Given the description of an element on the screen output the (x, y) to click on. 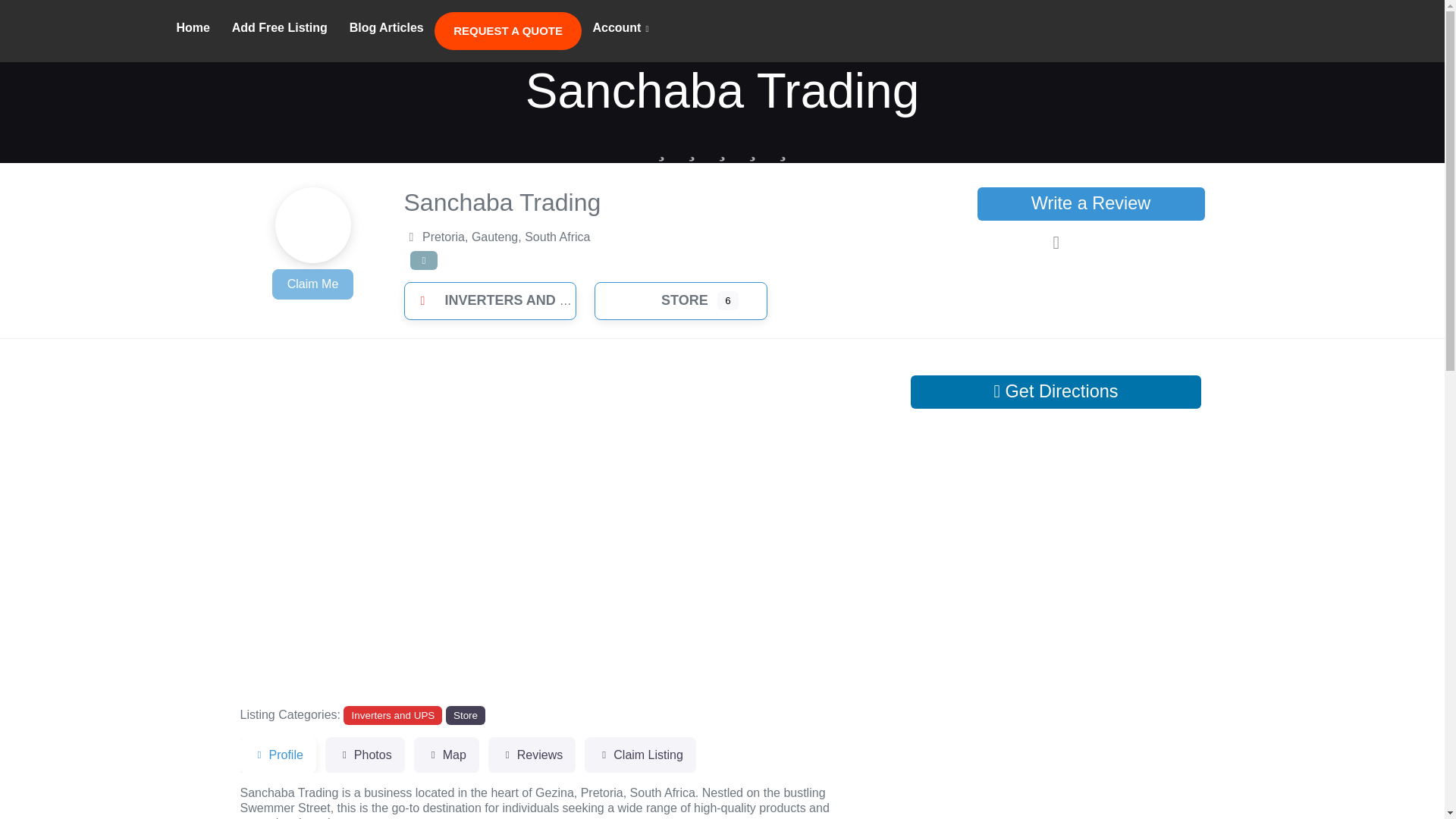
STORE (665, 299)
Claim Listing (640, 755)
Get Directions (1055, 391)
INVERTERS AND UPS (497, 299)
Home (193, 28)
Store (464, 714)
Reviews (531, 755)
No rating yet! (721, 147)
Inverters and UPS (392, 714)
Account (619, 28)
Claim Listing (640, 755)
Reviews (531, 755)
REQUEST A QUOTE (506, 30)
Inverters (70, 29)
Profile (277, 755)
